Given the description of an element on the screen output the (x, y) to click on. 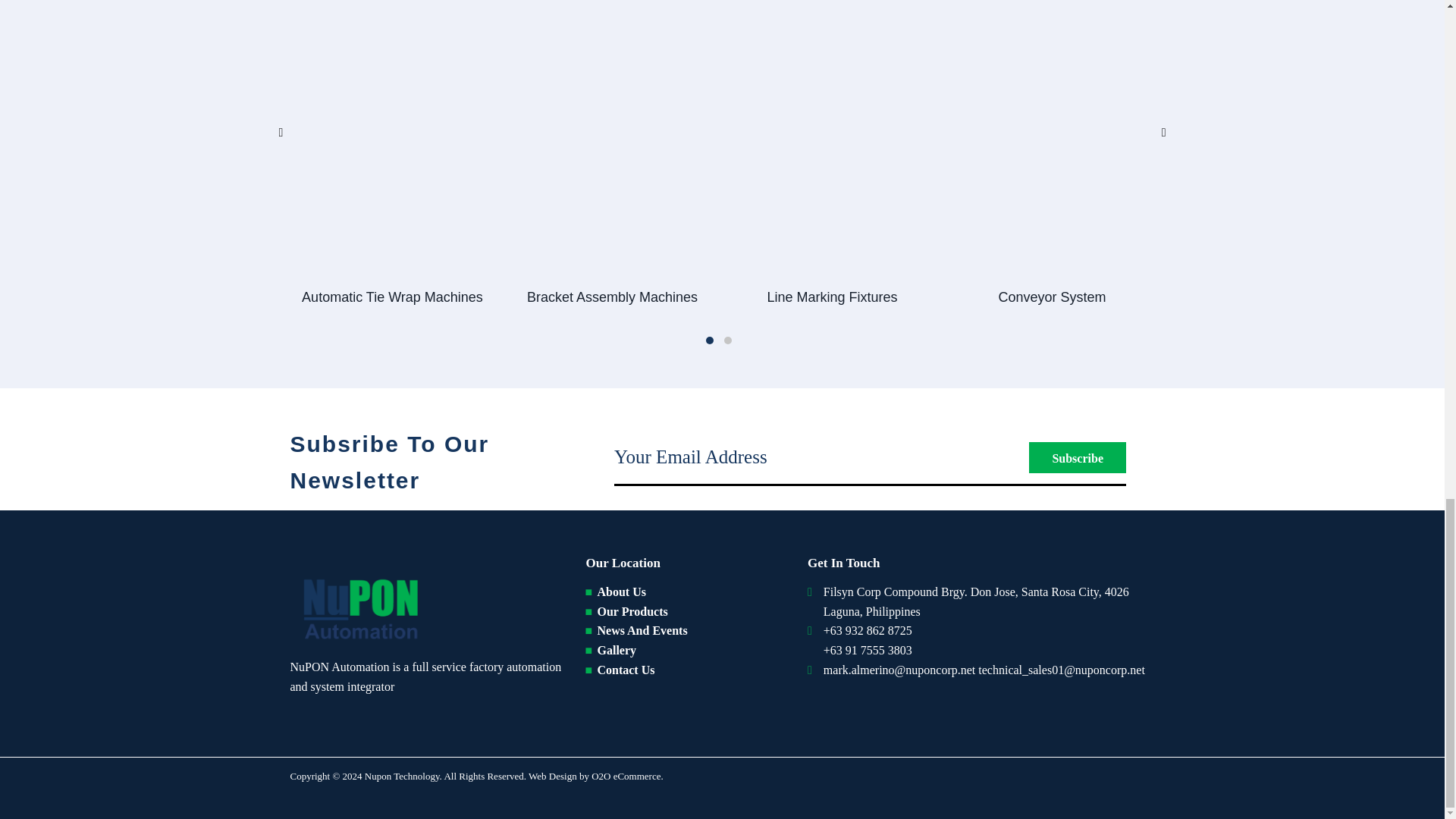
Nupon Automation (357, 607)
Bracket Assembly Machines (611, 296)
Line Marking Fixtures (831, 296)
Automatic Tie Wrap Machines (391, 296)
Conveyor System (1051, 296)
